Given the description of an element on the screen output the (x, y) to click on. 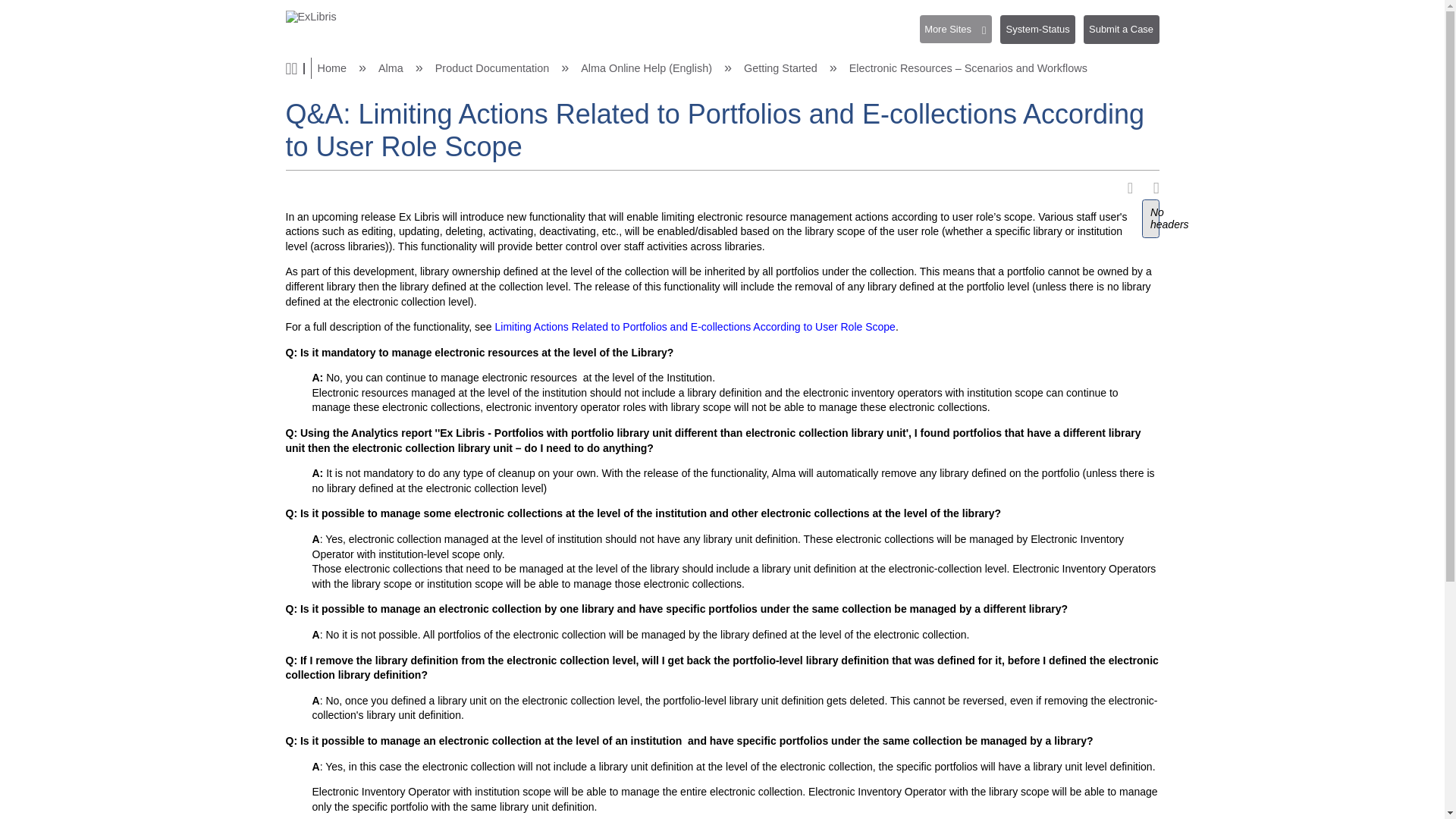
System-Status (1041, 34)
Export page as a PDF (1133, 188)
Home (333, 68)
Save as PDF (1133, 188)
Product Documentation (493, 68)
Submit a Case (1120, 29)
Alma (392, 68)
Getting Started (782, 68)
ExLibris (310, 16)
